Given the description of an element on the screen output the (x, y) to click on. 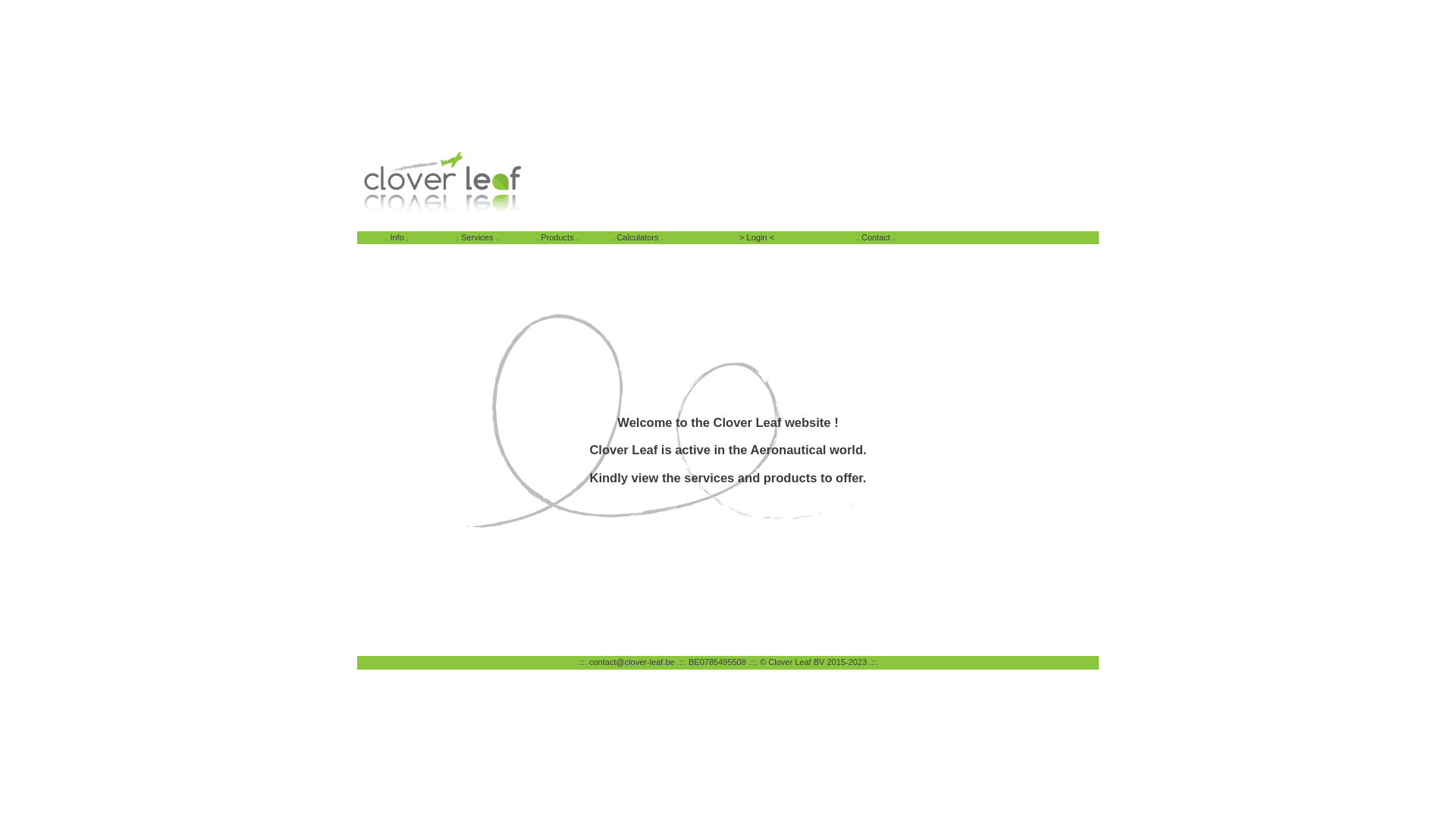
. Contact . Element type: text (875, 236)
. Products . Element type: text (557, 236)
. Services . Element type: text (476, 236)
> Login < Element type: text (756, 236)
. Info . Element type: text (396, 236)
. Calculators . Element type: text (636, 236)
